Given the description of an element on the screen output the (x, y) to click on. 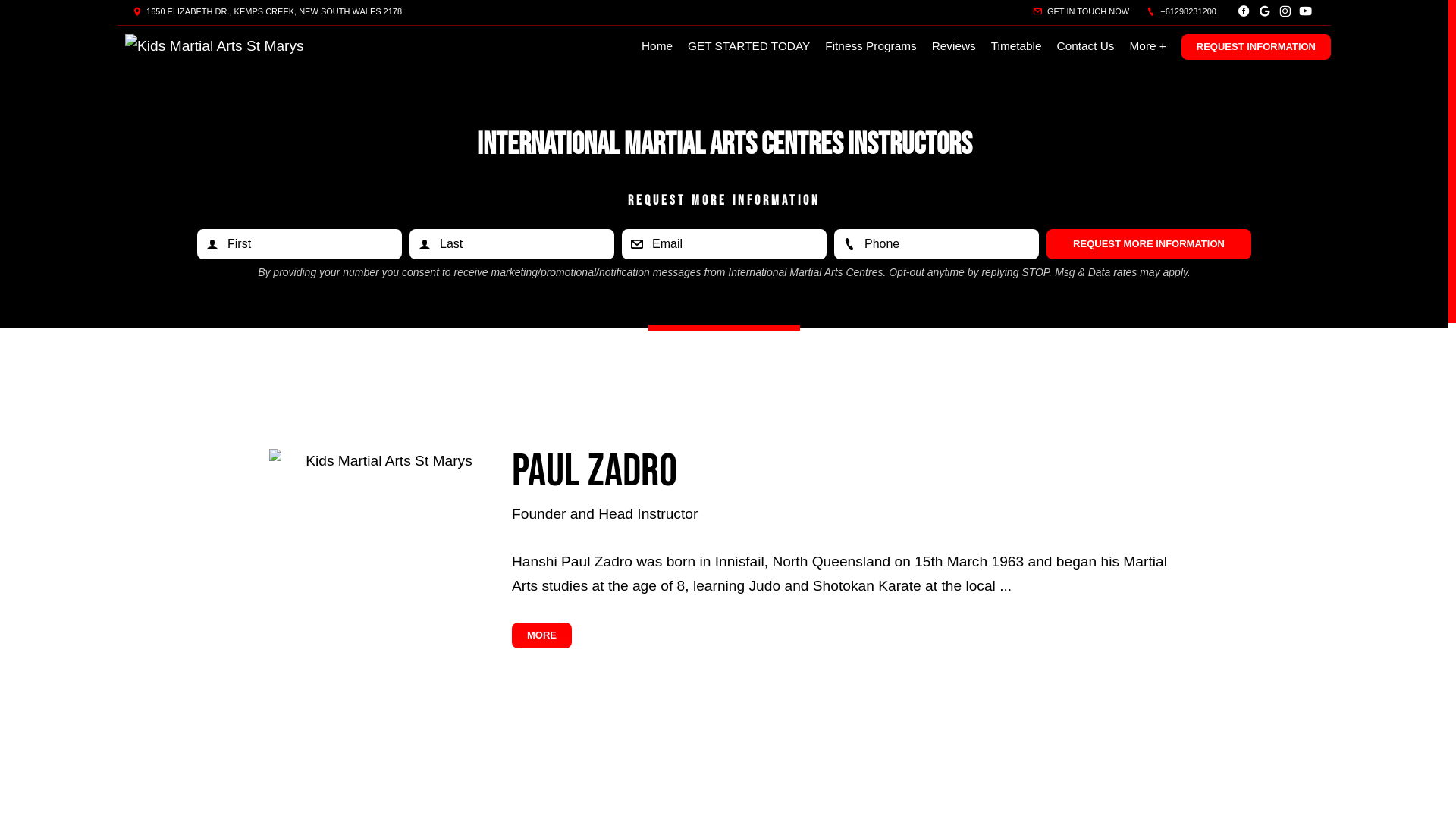
More + Element type: text (1147, 45)
Request More Information Element type: text (1148, 244)
Last Element type: hover (511, 244)
Required Element type: hover (936, 244)
Contact Us Element type: text (1085, 45)
Home Element type: text (656, 45)
REQUEST INFORMATION Element type: text (1255, 46)
+61298231200 Element type: text (1181, 10)
Required Element type: hover (723, 244)
GET STARTED TODAY Element type: text (748, 45)
Timetable Element type: text (1016, 45)
Reviews Element type: text (953, 45)
MORE Element type: text (541, 635)
Fitness Programs Element type: text (870, 45)
First Element type: hover (299, 244)
GET IN TOUCH NOW Element type: text (1081, 10)
